Given the description of an element on the screen output the (x, y) to click on. 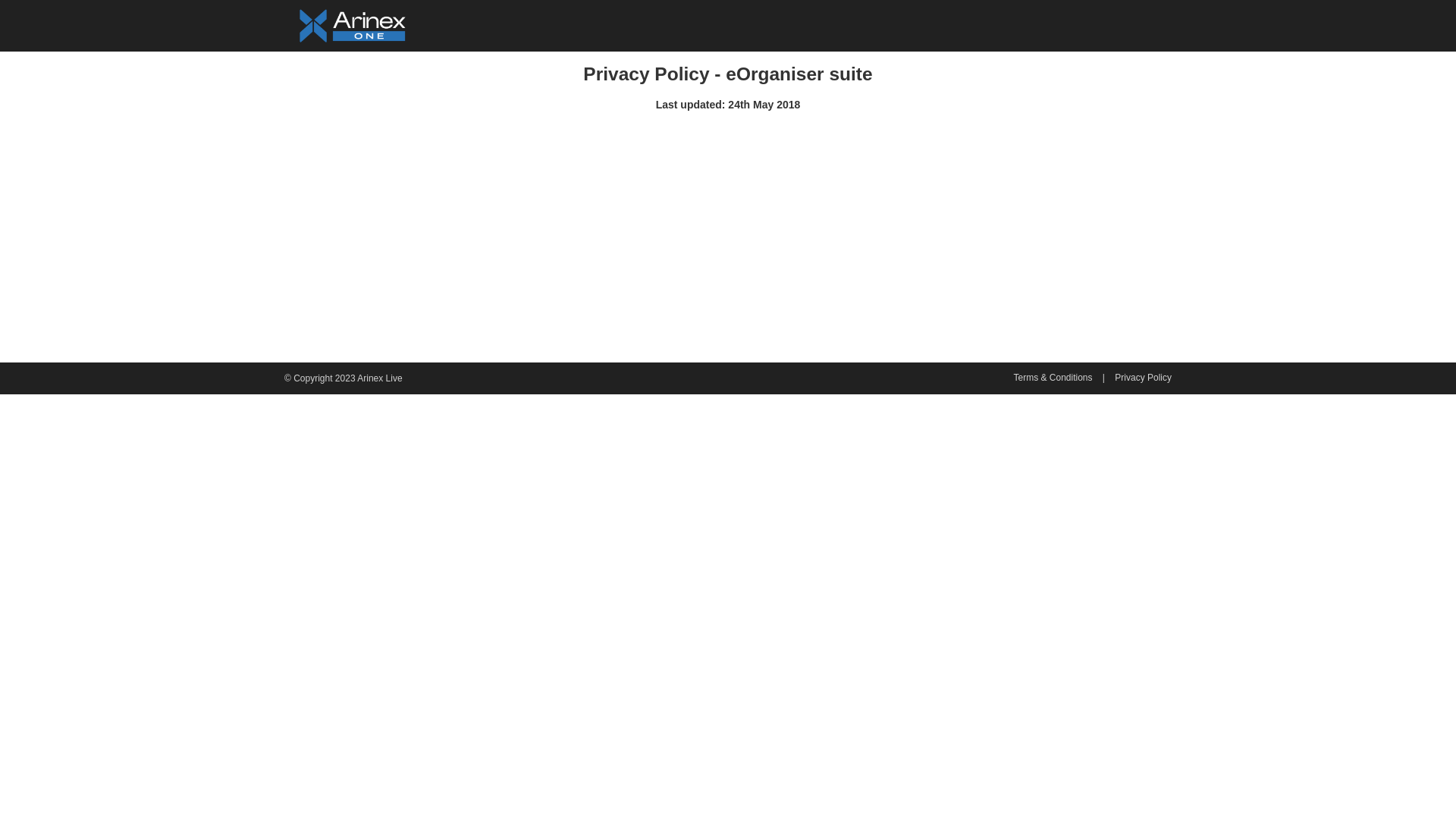
Privacy Policy Element type: text (1142, 377)
Terms & Conditions Element type: text (1052, 377)
